Given the description of an element on the screen output the (x, y) to click on. 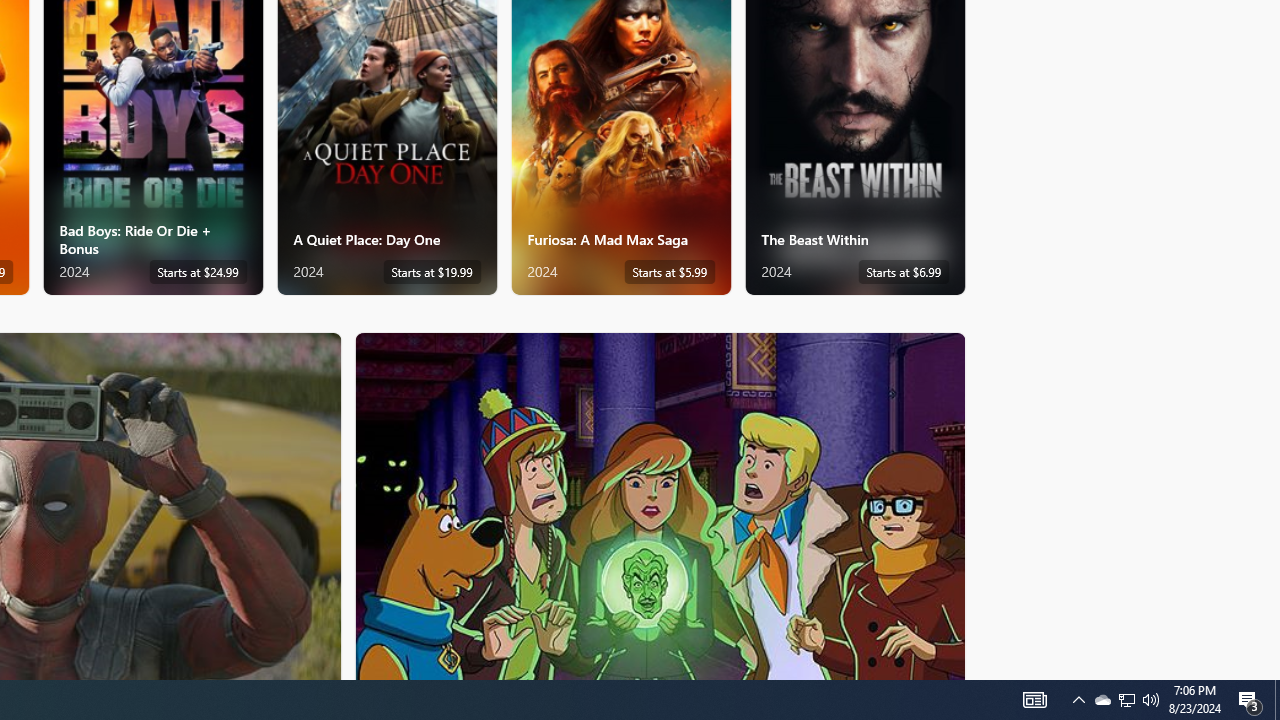
Family (660, 505)
AutomationID: PosterImage (658, 505)
